Given the description of an element on the screen output the (x, y) to click on. 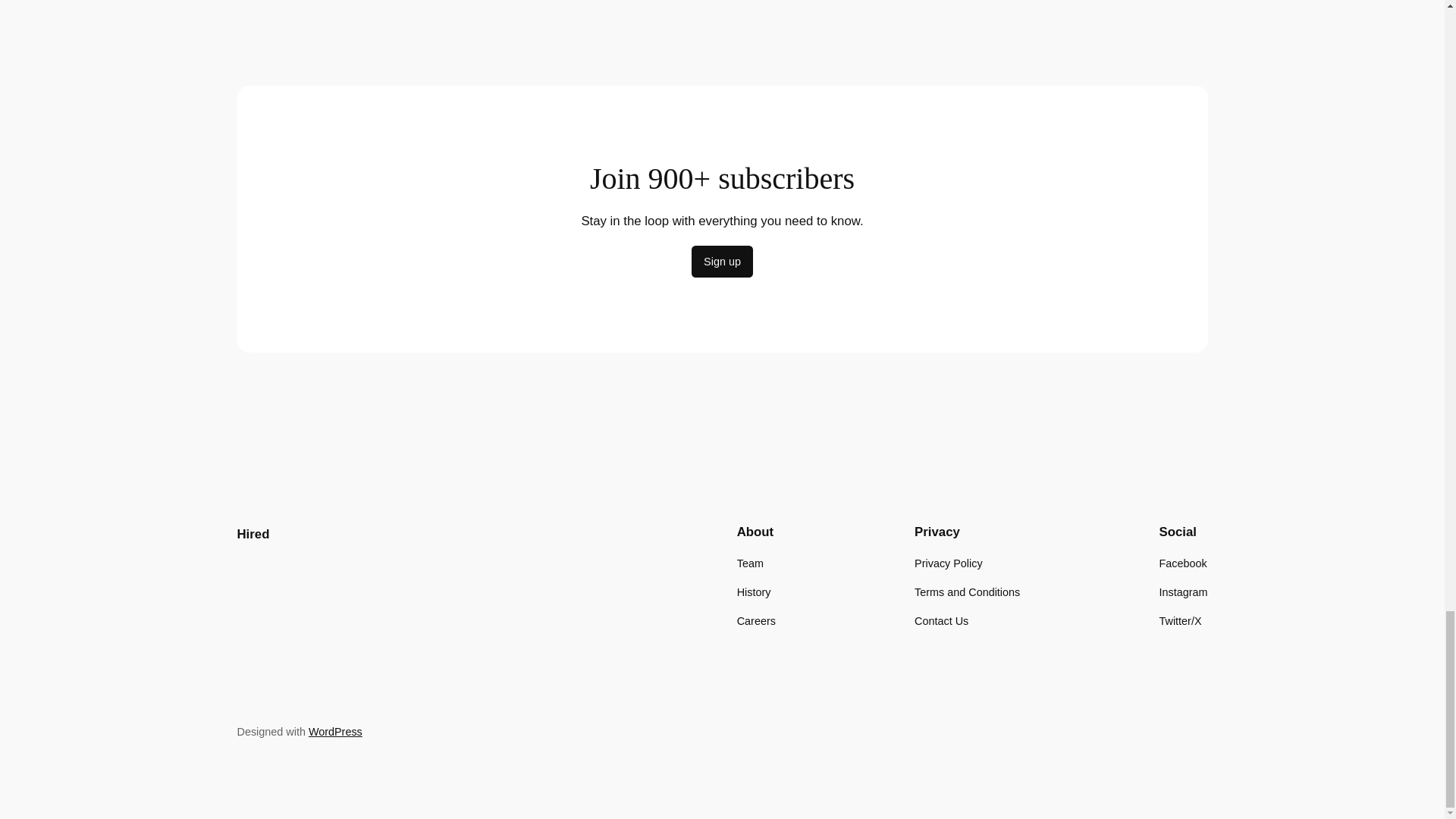
WordPress (335, 731)
Privacy Policy (948, 563)
Team (749, 563)
Facebook (1182, 563)
Terms and Conditions (967, 591)
History (753, 591)
Careers (756, 620)
Hired (252, 534)
Sign up (721, 261)
Instagram (1182, 591)
